Given the description of an element on the screen output the (x, y) to click on. 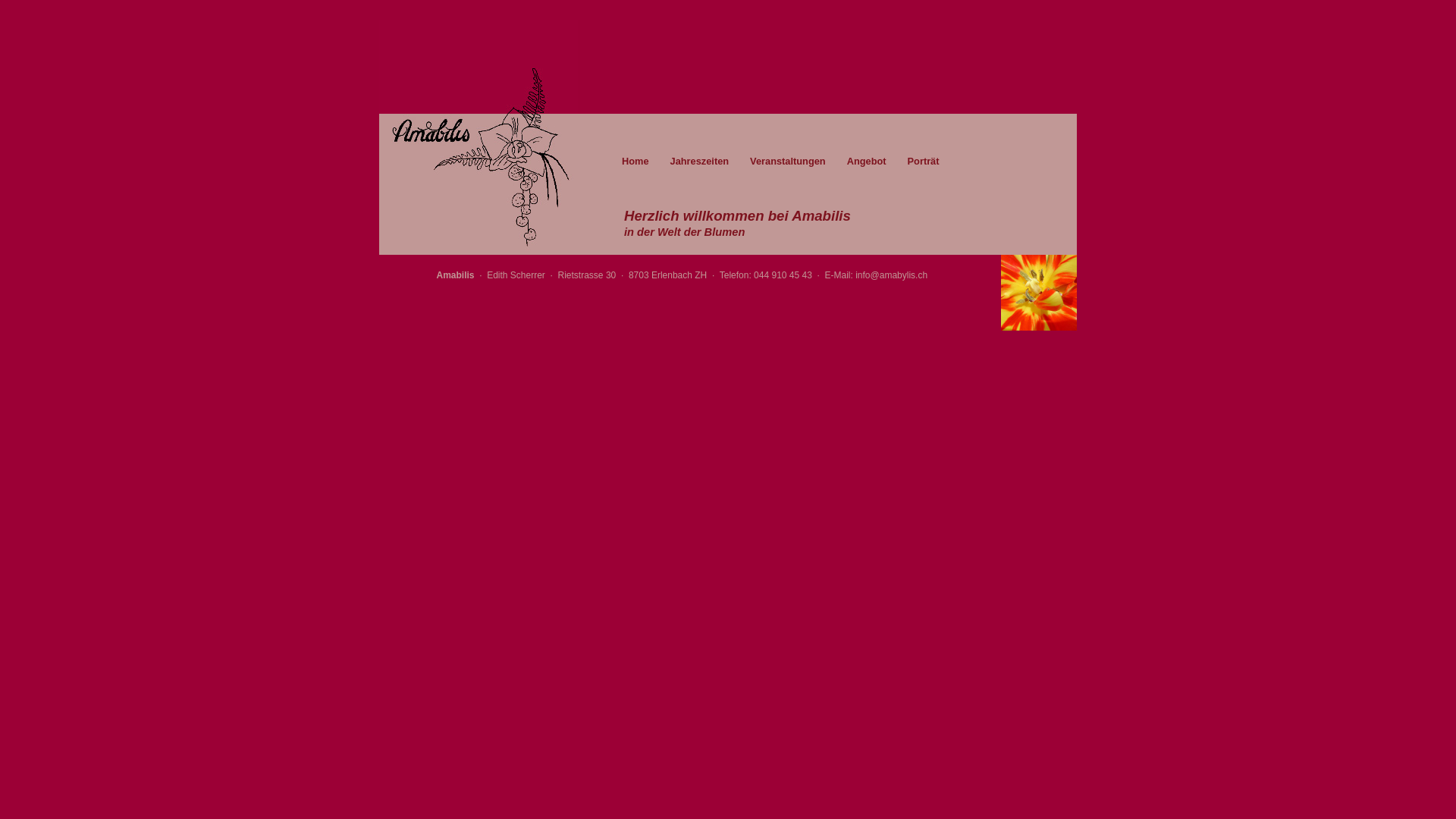
Home Element type: text (635, 160)
Veranstaltungen Element type: text (787, 160)
Jahreszeiten Element type: text (699, 160)
Angebot Element type: text (866, 160)
